Given the description of an element on the screen output the (x, y) to click on. 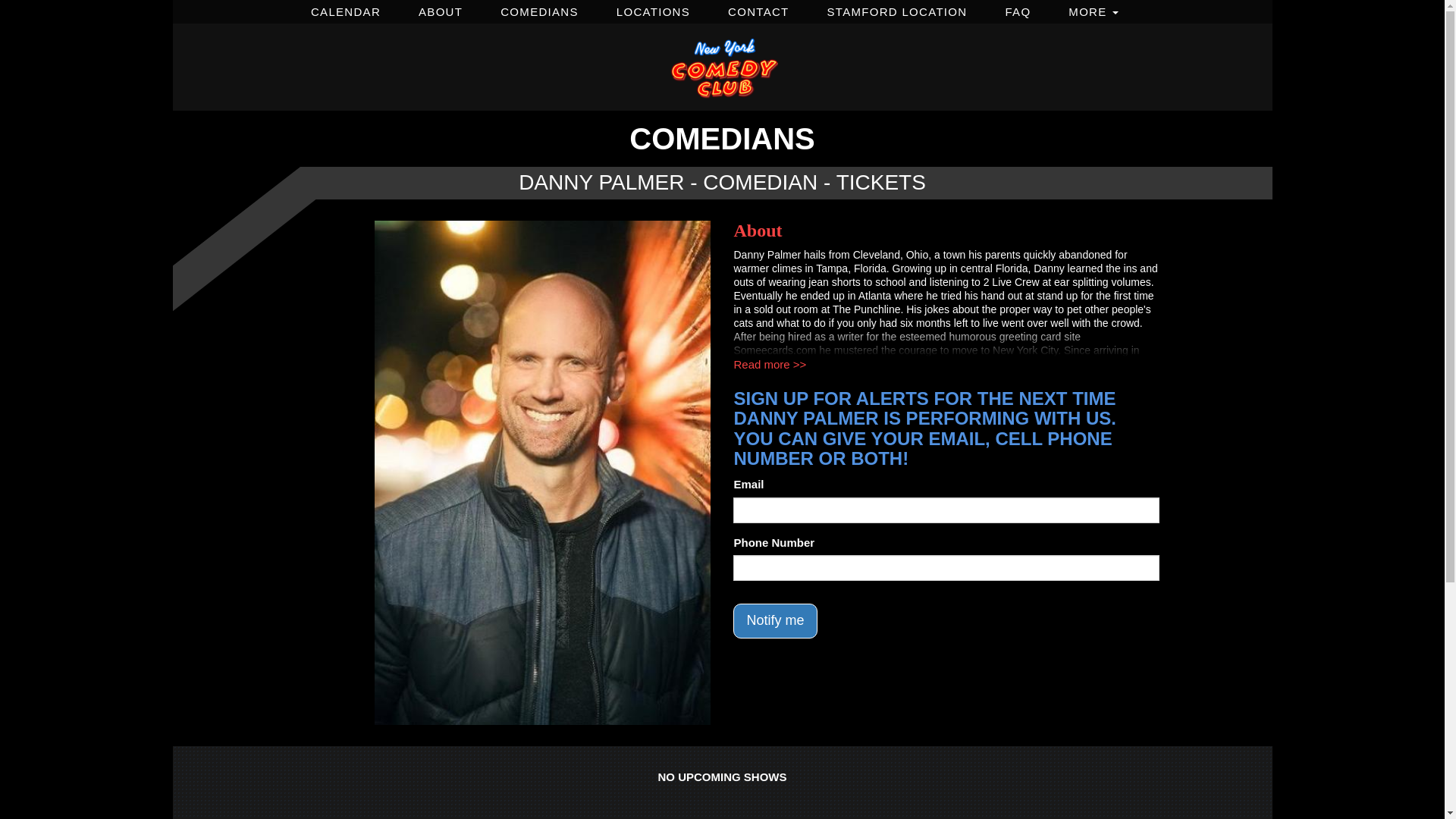
CALENDAR (345, 9)
LOCATIONS (653, 9)
COMEDIANS (539, 9)
CONTACT (757, 9)
MORE (1093, 9)
FAQ (1017, 9)
Notify me (774, 620)
STAMFORD LOCATION (896, 9)
ABOUT (440, 9)
